Given the description of an element on the screen output the (x, y) to click on. 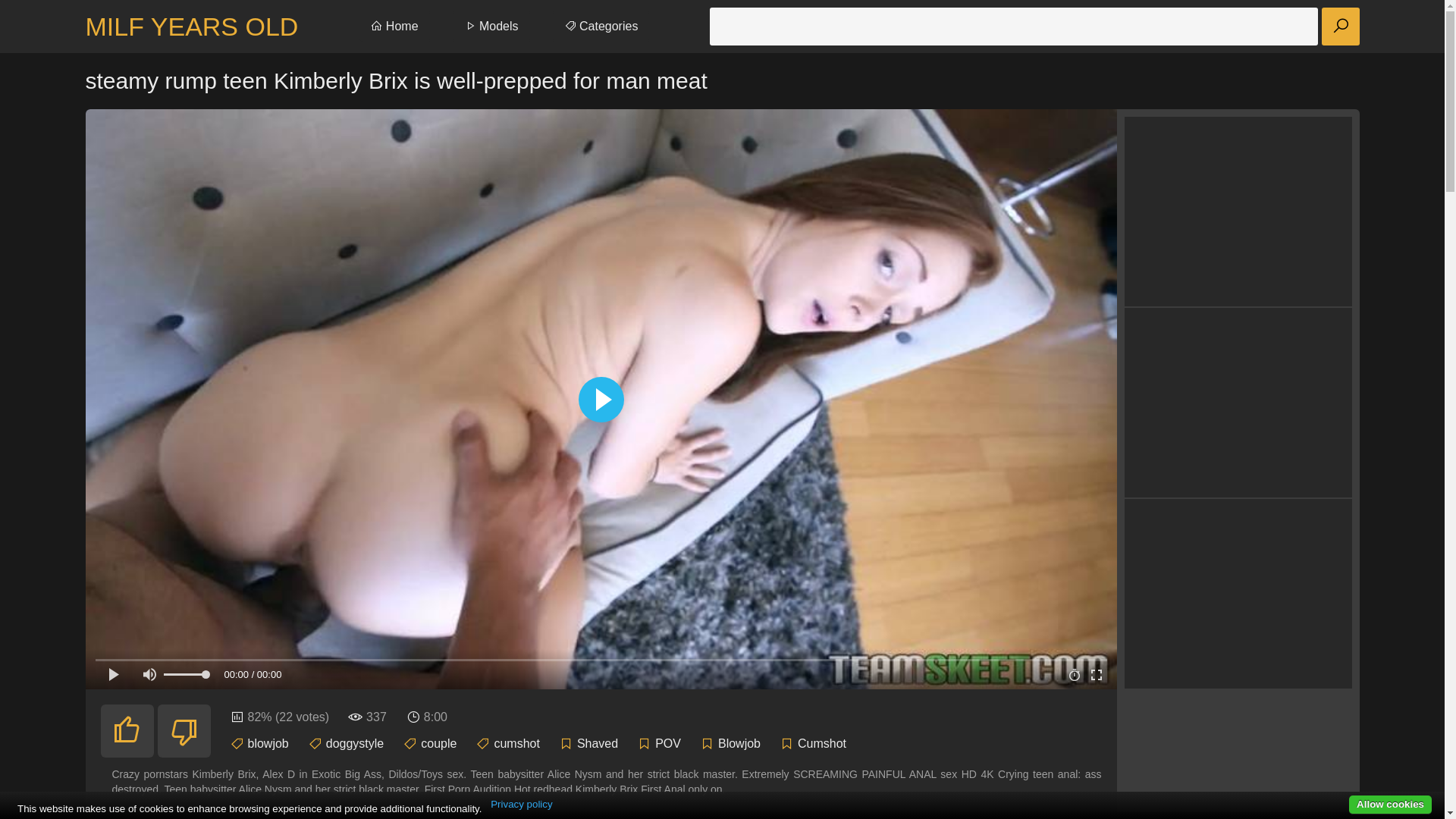
Blowjob Element type: text (739, 743)
Search Element type: hover (1339, 26)
Categories Element type: text (600, 26)
doggystyle Element type: text (355, 743)
blowjob Element type: text (267, 743)
cumshot Element type: text (516, 743)
Like! Element type: hover (126, 730)
Cumshot Element type: text (821, 743)
Dislike! Element type: hover (183, 730)
Shaved Element type: text (597, 743)
Allow cookies Element type: text (1390, 804)
Models Element type: text (491, 26)
Privacy policy Element type: text (521, 804)
couple Element type: text (438, 743)
POV Element type: text (667, 743)
Home Element type: text (393, 26)
MILF YEARS OLD Element type: text (191, 26)
